Given the description of an element on the screen output the (x, y) to click on. 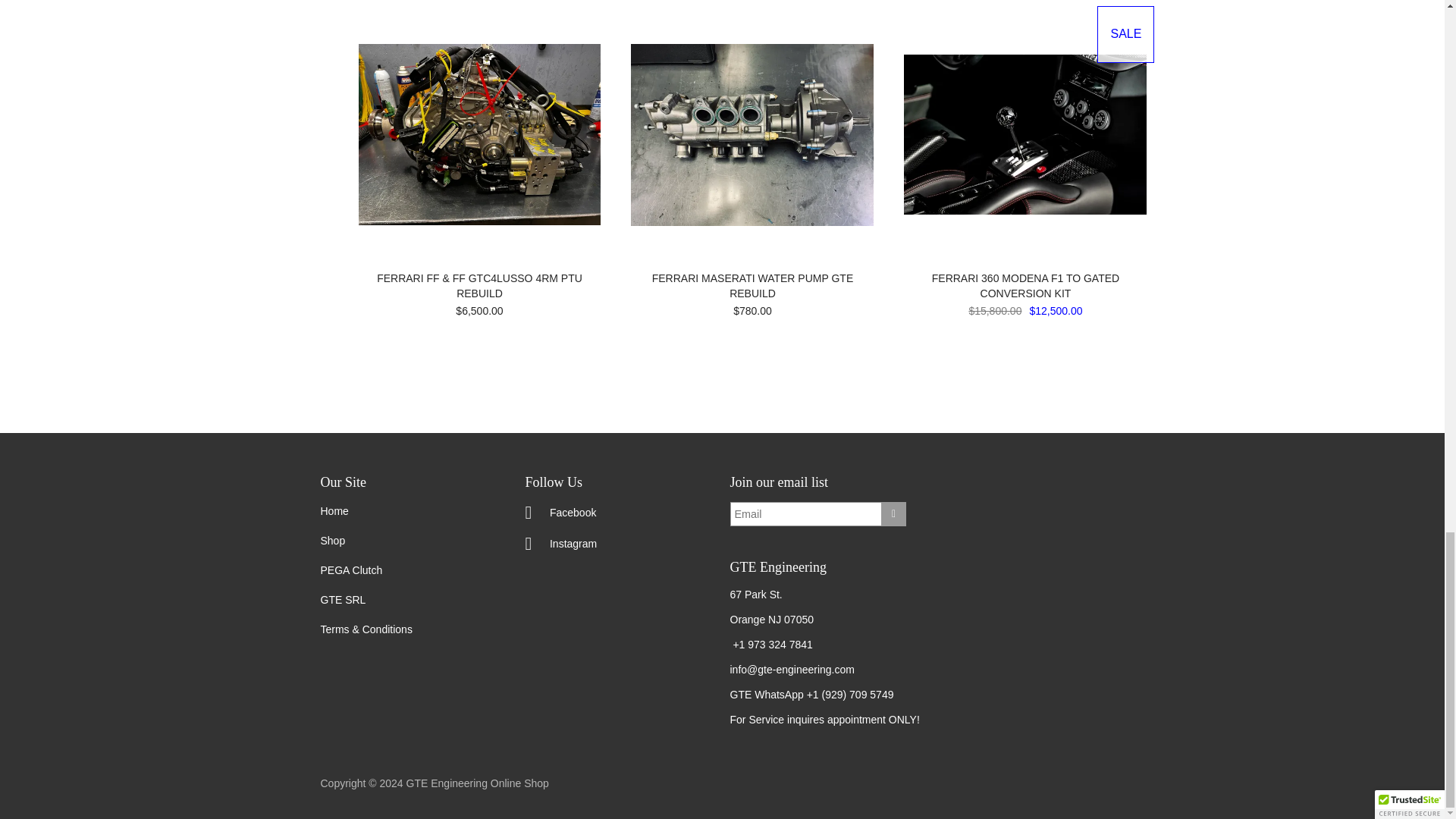
GTE SRL (342, 599)
Facebook (559, 509)
PEGA Clutch (350, 570)
Shop (332, 540)
Home (333, 510)
